Given the description of an element on the screen output the (x, y) to click on. 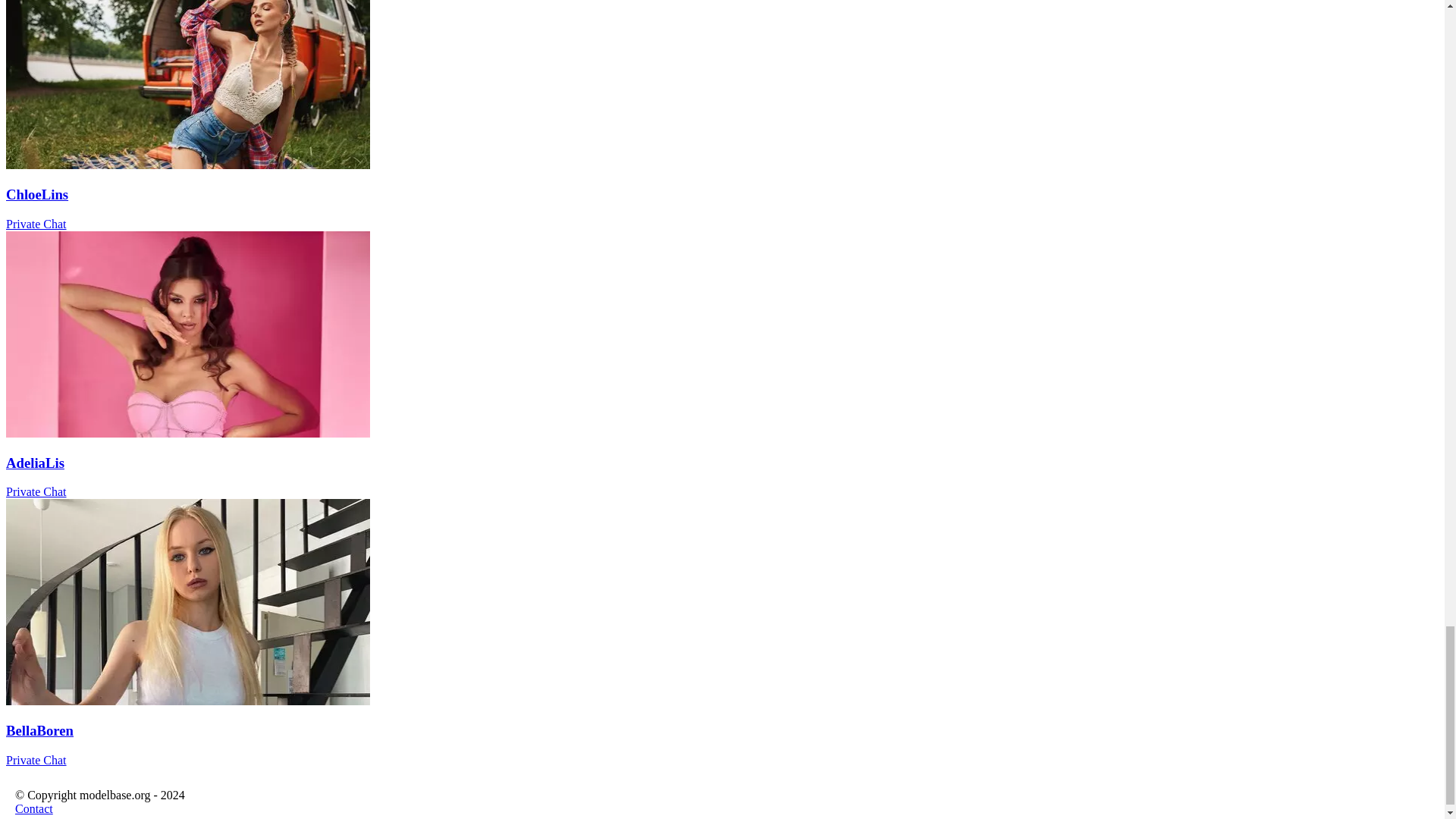
Contact (33, 808)
